Given the description of an element on the screen output the (x, y) to click on. 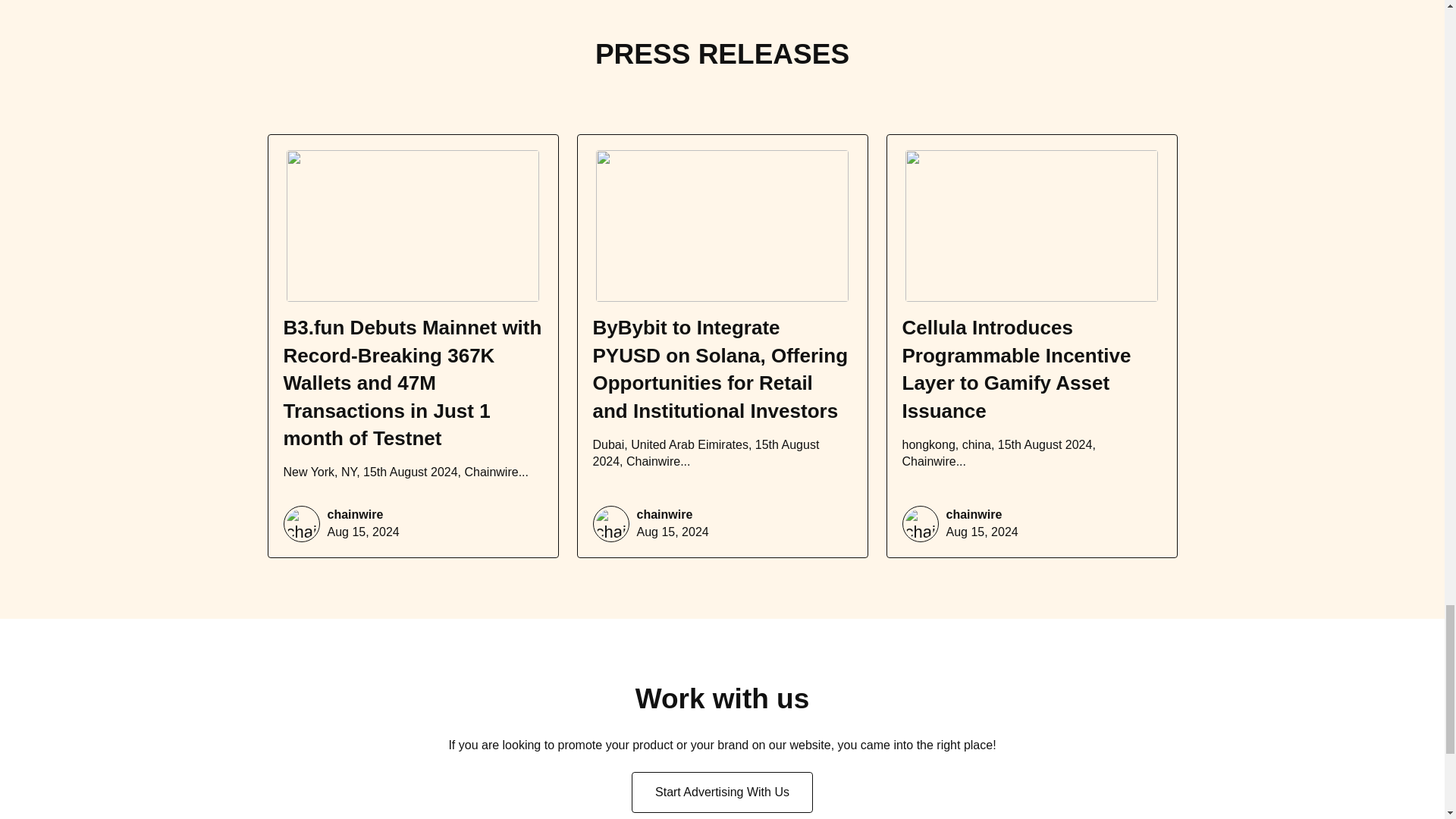
chainwire (355, 514)
chainwire (665, 514)
